Given the description of an element on the screen output the (x, y) to click on. 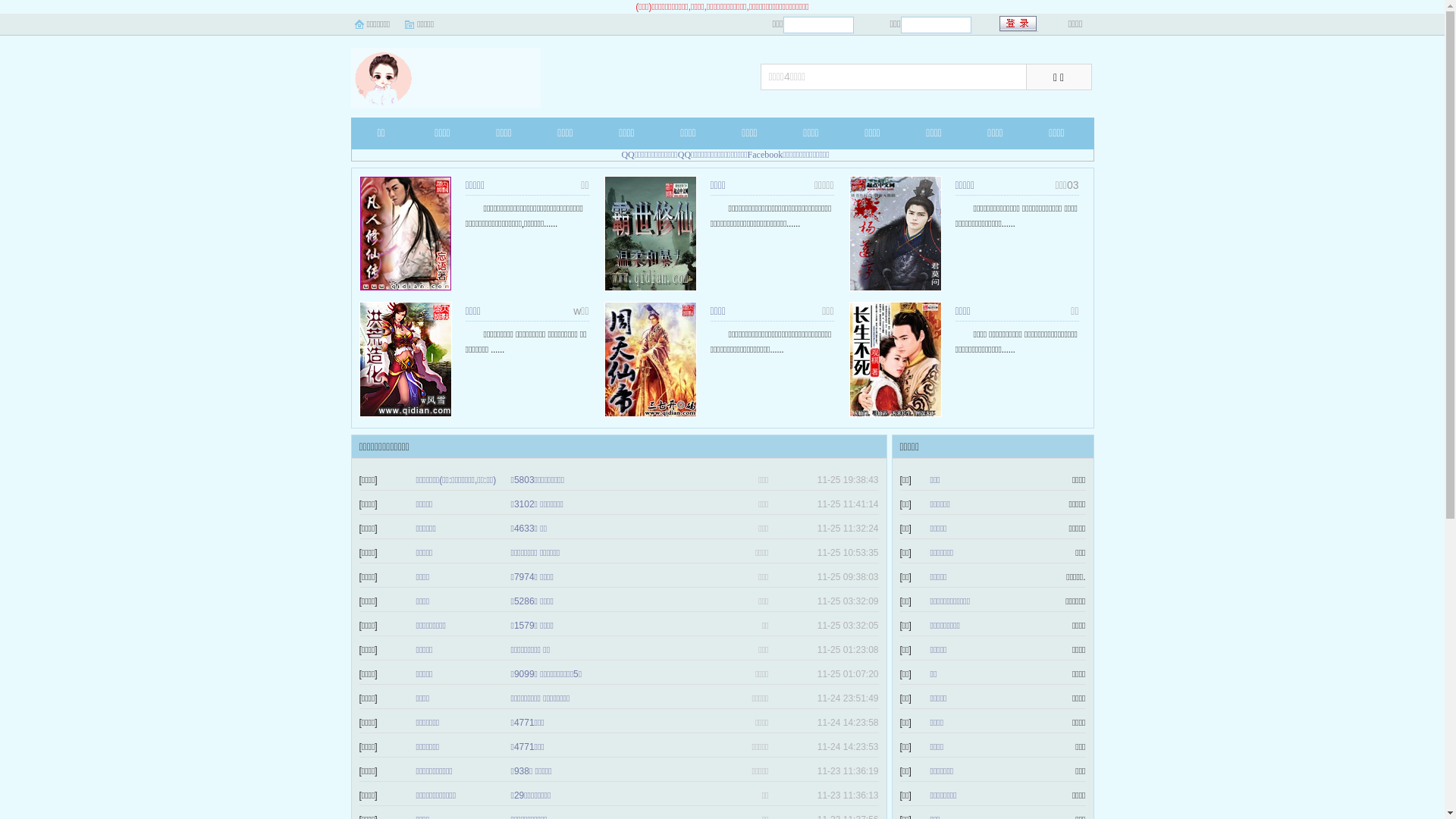
Facebook Element type: text (765, 154)
